Given the description of an element on the screen output the (x, y) to click on. 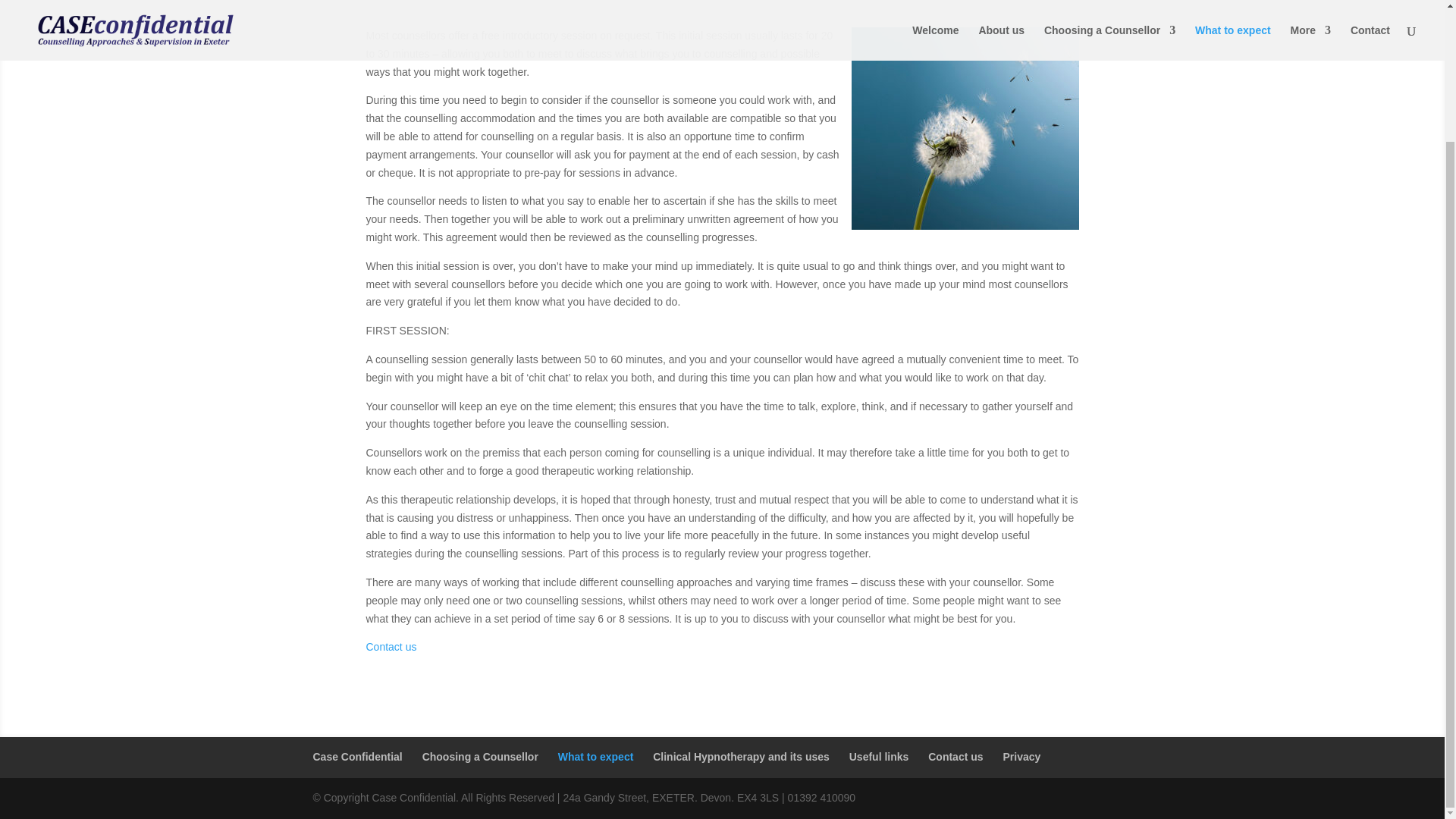
Contact us (390, 646)
Clinical Hypnotherapy and its uses (740, 756)
Useful links (878, 756)
Choosing a Counsellor (480, 756)
What to expect (595, 756)
Privacy (1022, 756)
Case Confidential (357, 756)
Contact us (955, 756)
